Given the description of an element on the screen output the (x, y) to click on. 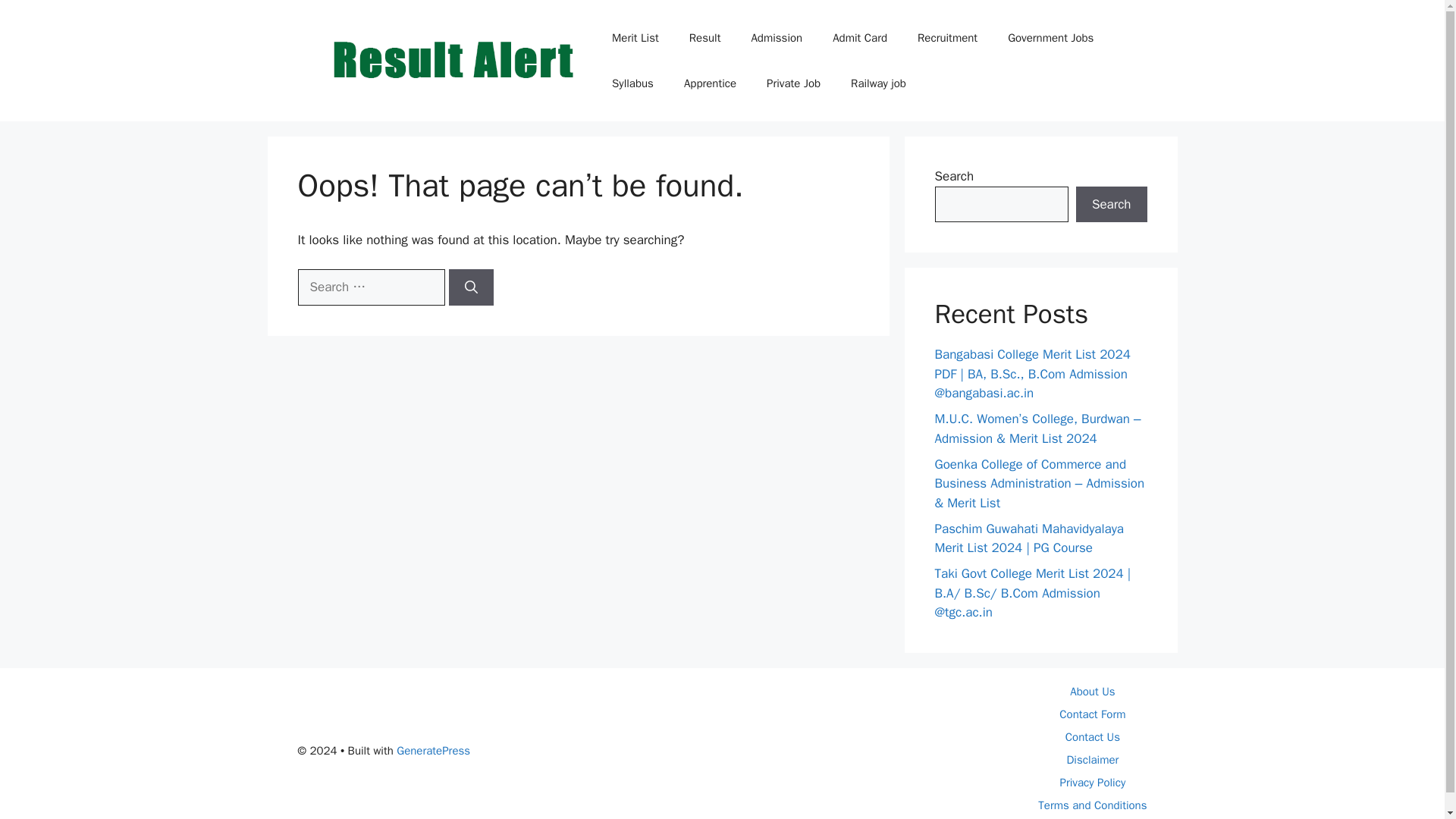
Search (1111, 204)
Disclaimer (1091, 758)
Terms and Conditions (1092, 804)
Government Jobs (1050, 37)
Syllabus (632, 83)
About Us (1092, 690)
Admit Card (859, 37)
Private Job (793, 83)
Privacy Policy (1092, 781)
Contact Form (1092, 713)
Recruitment (947, 37)
Result (705, 37)
Apprentice (709, 83)
Railway job (878, 83)
Admission (775, 37)
